Given the description of an element on the screen output the (x, y) to click on. 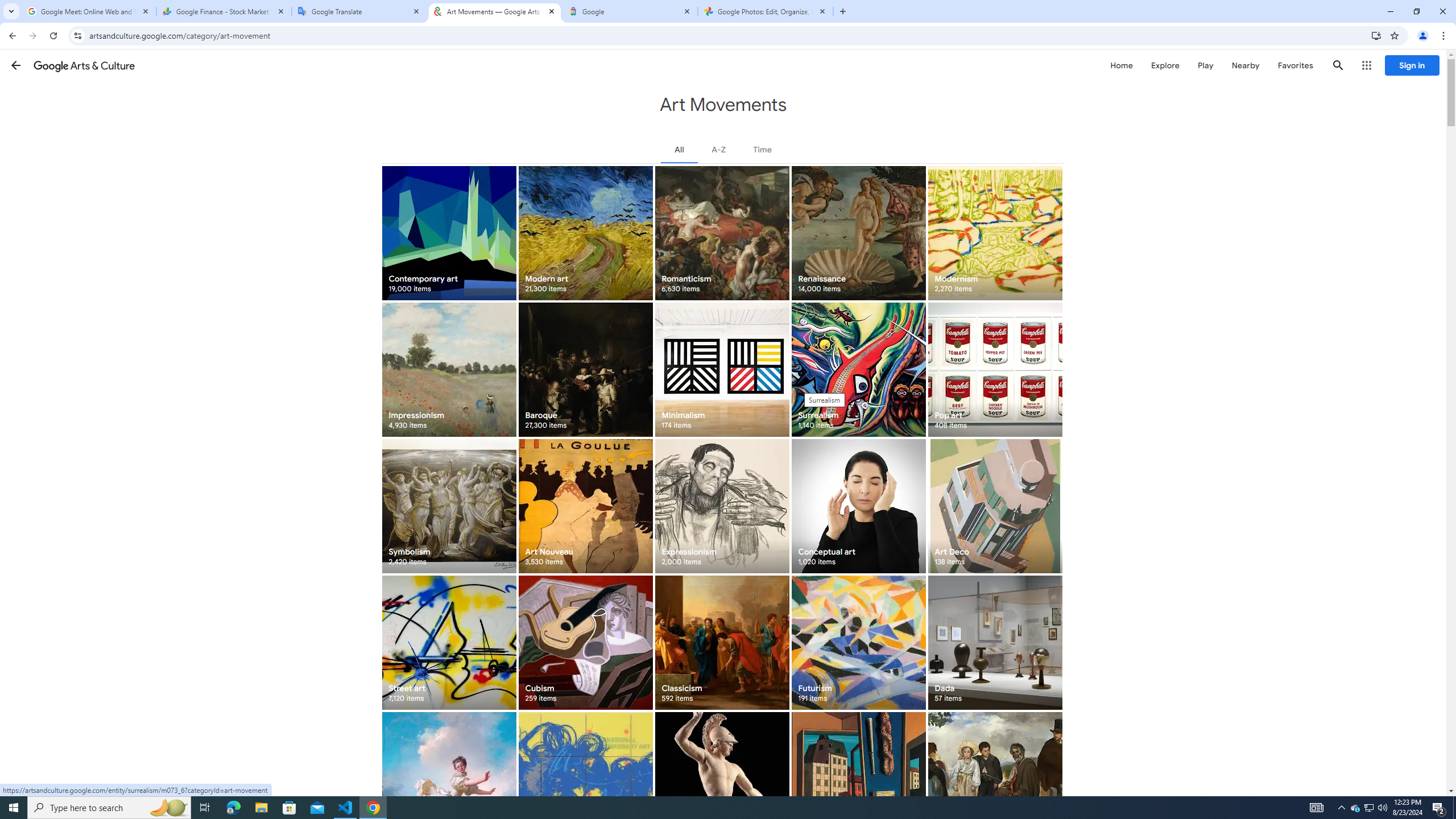
Symbolism 2,420 items (448, 505)
